Given the description of an element on the screen output the (x, y) to click on. 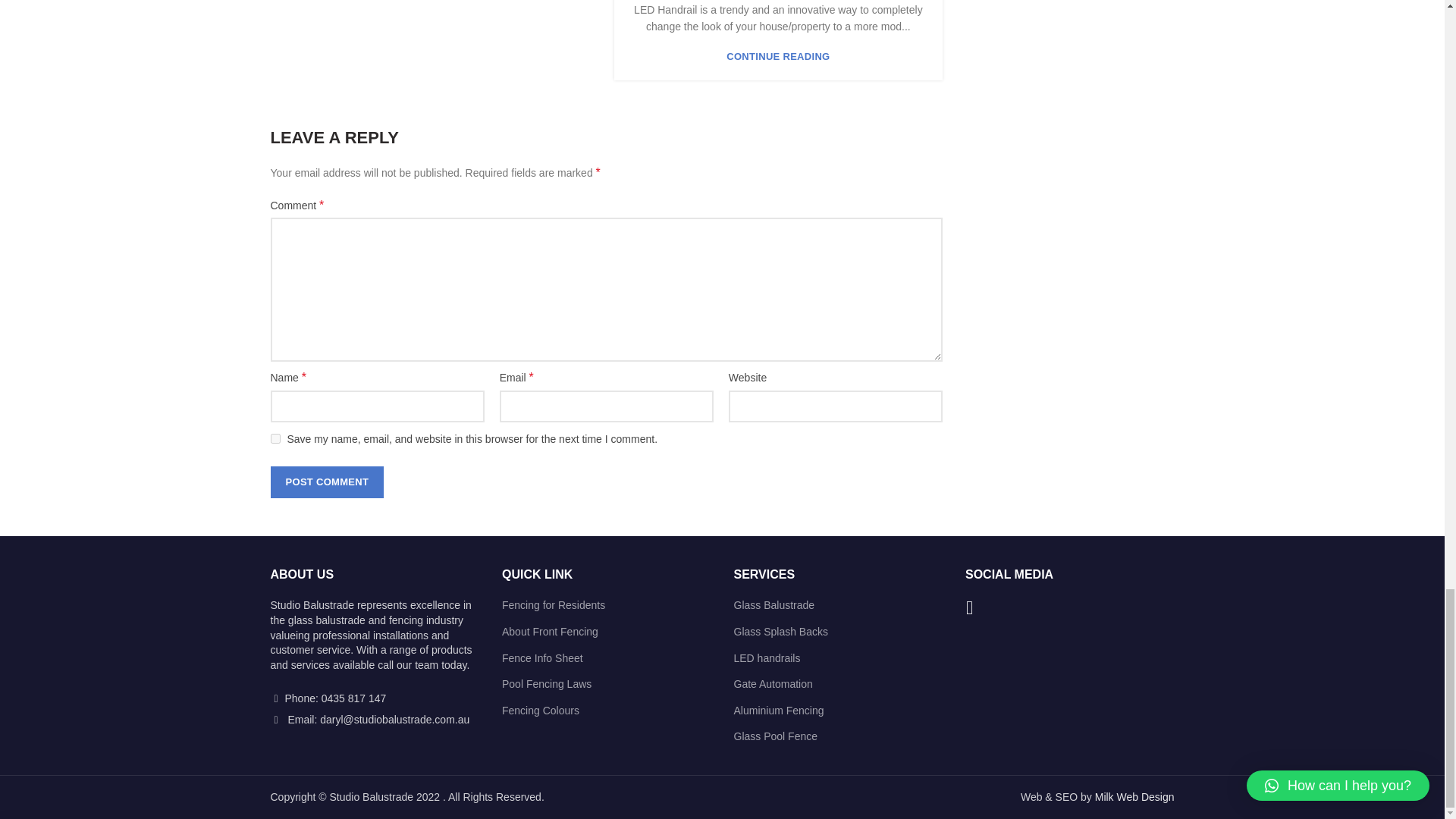
Post Comment (326, 481)
yes (274, 438)
